Given the description of an element on the screen output the (x, y) to click on. 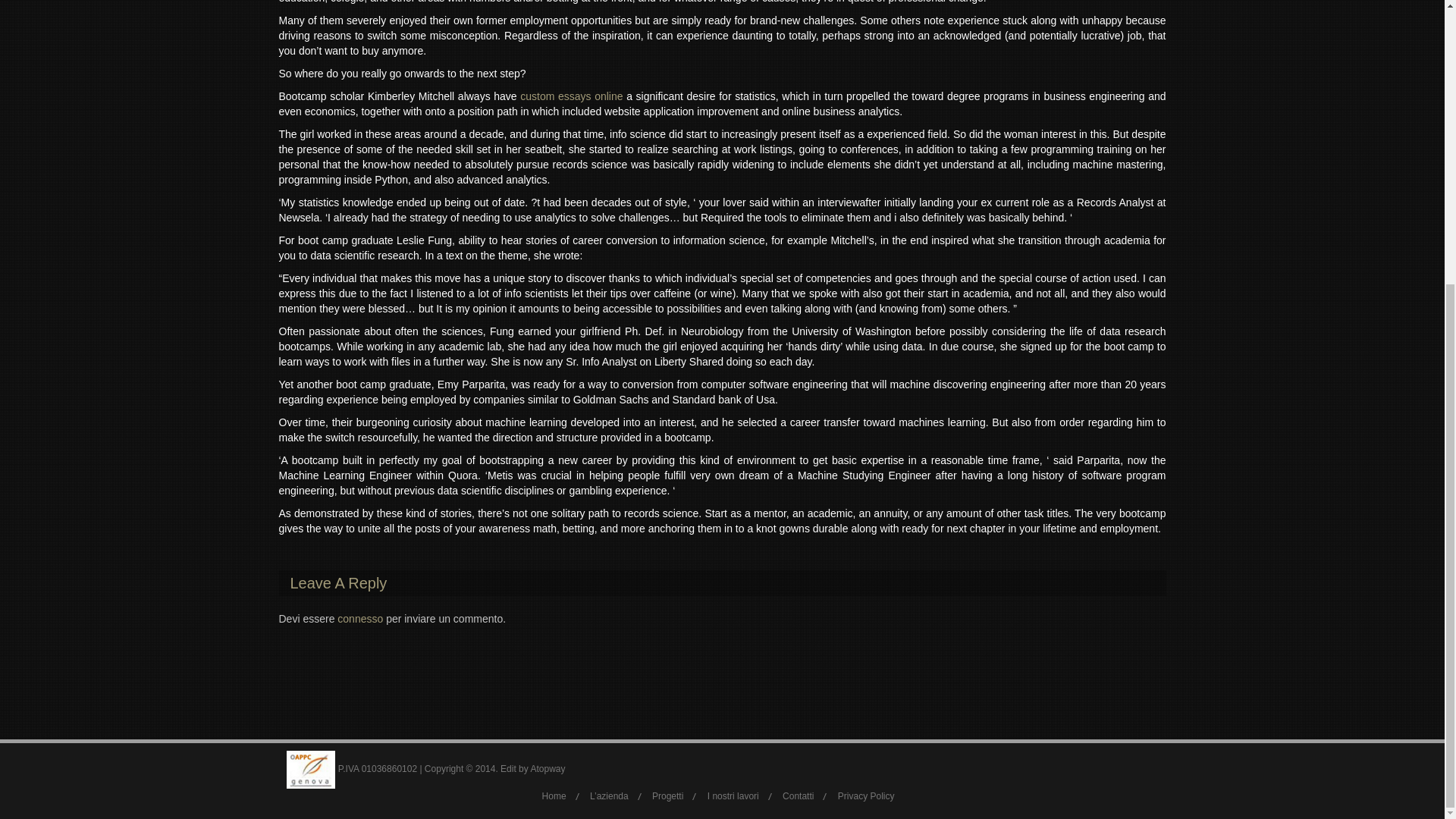
Contatti (798, 796)
Home (553, 796)
Privacy Policy (866, 796)
connesso (359, 618)
Progetti (667, 796)
I nostri lavori (732, 796)
Atopway (546, 768)
custom essays online (571, 96)
